Given the description of an element on the screen output the (x, y) to click on. 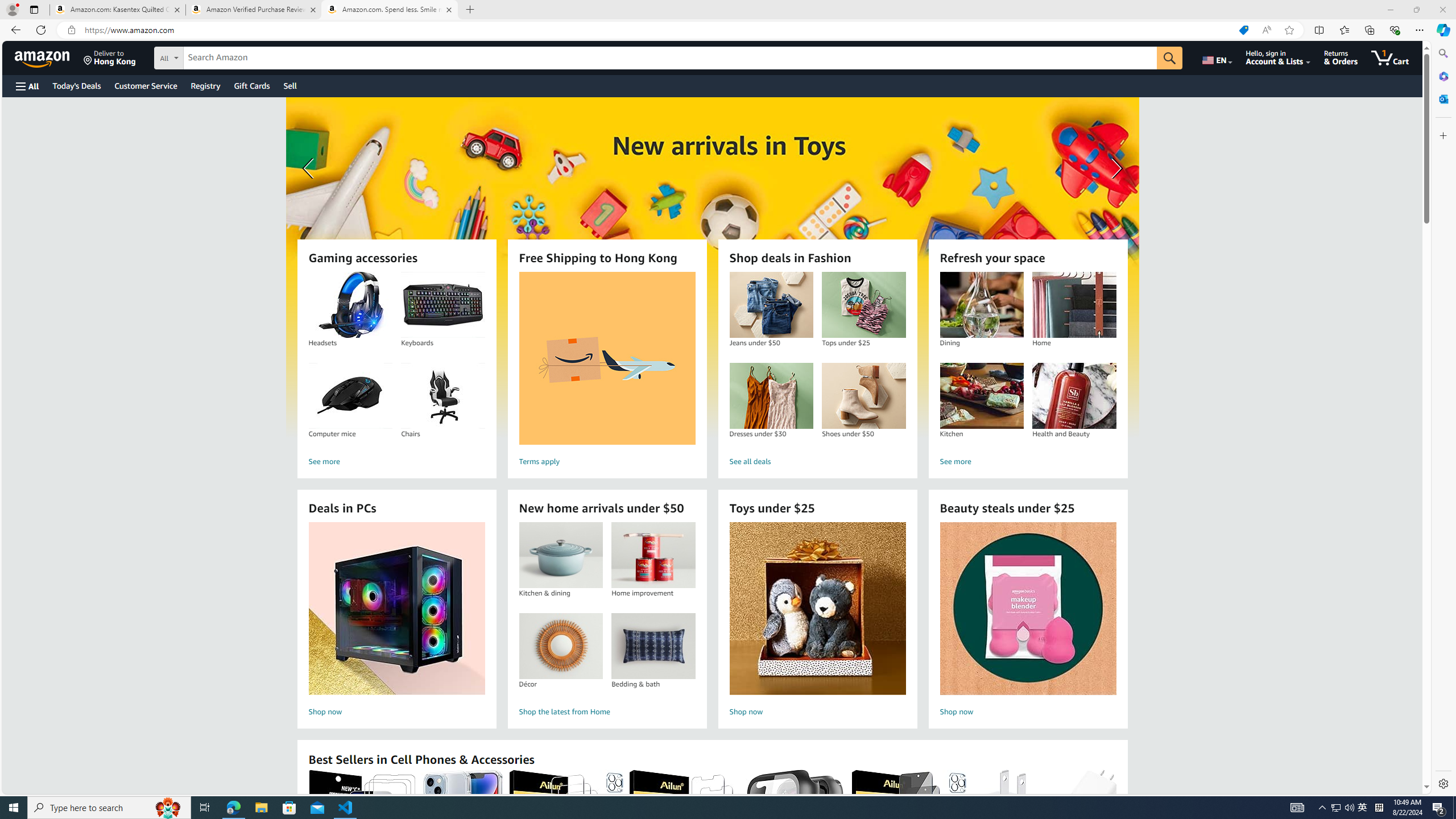
Bedding & bath (653, 645)
Registry (205, 85)
Keyboards (442, 304)
Returns & Orders (1340, 57)
Home improvement (652, 555)
Search in (210, 56)
Hello, sign in Account & Lists (1278, 57)
